Given the description of an element on the screen output the (x, y) to click on. 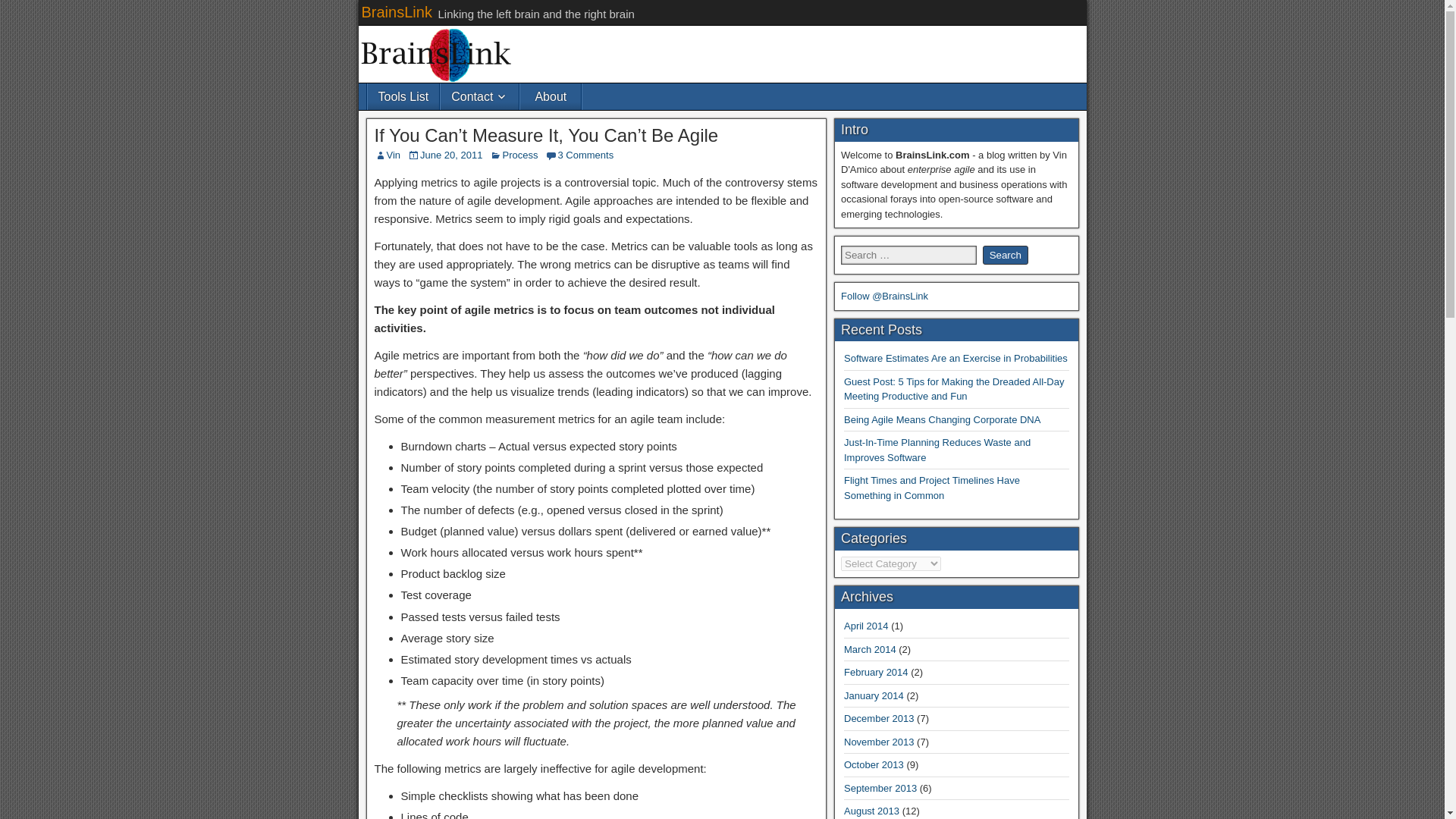
Process (519, 154)
August 2013 (871, 810)
February 2014 (876, 672)
Tools List (402, 96)
Search (1004, 254)
About (549, 96)
3 Comments (584, 154)
Search (1004, 254)
March 2014 (870, 649)
Search (1004, 254)
